Given the description of an element on the screen output the (x, y) to click on. 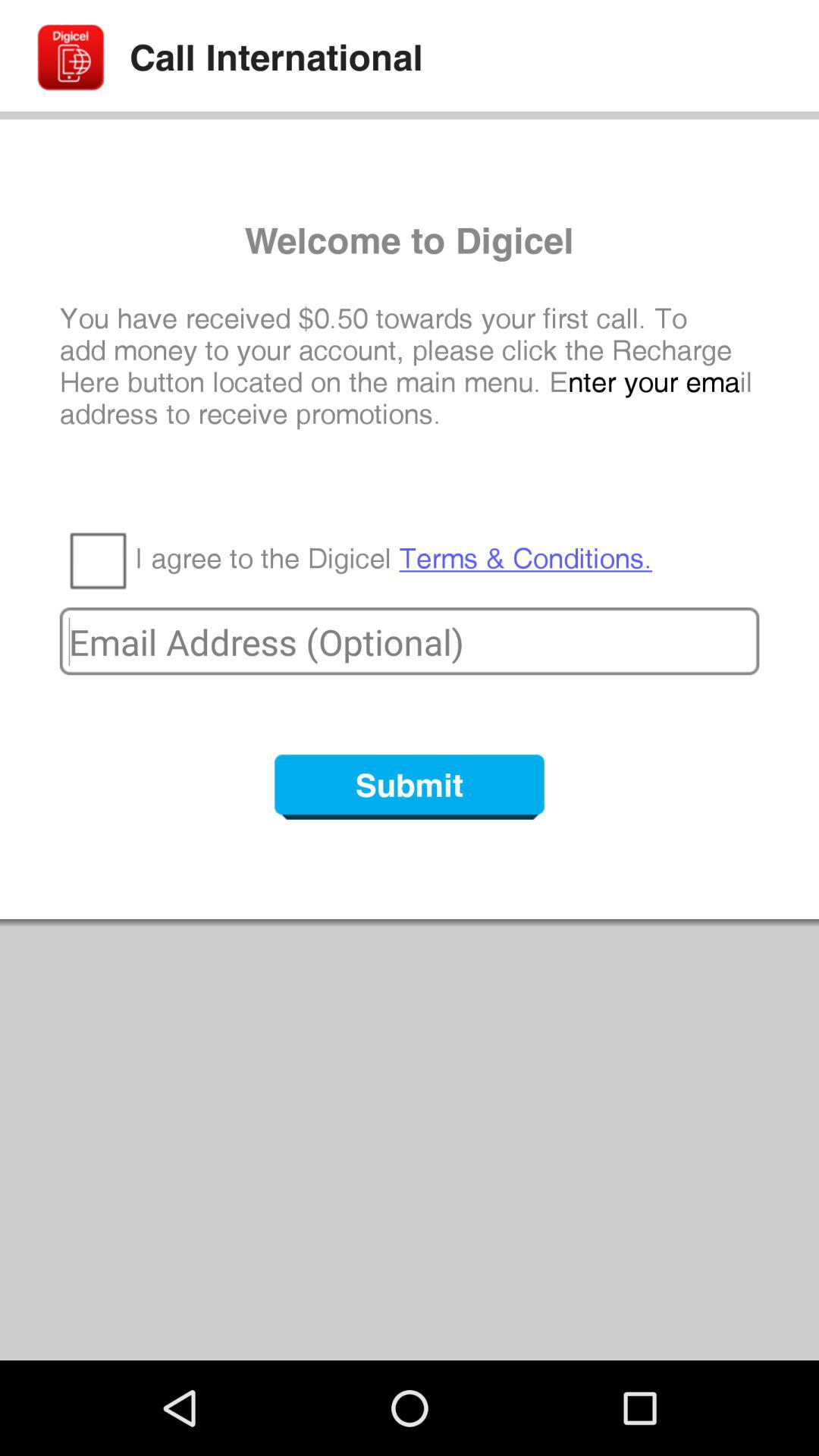
jump to the i agree to (393, 559)
